Given the description of an element on the screen output the (x, y) to click on. 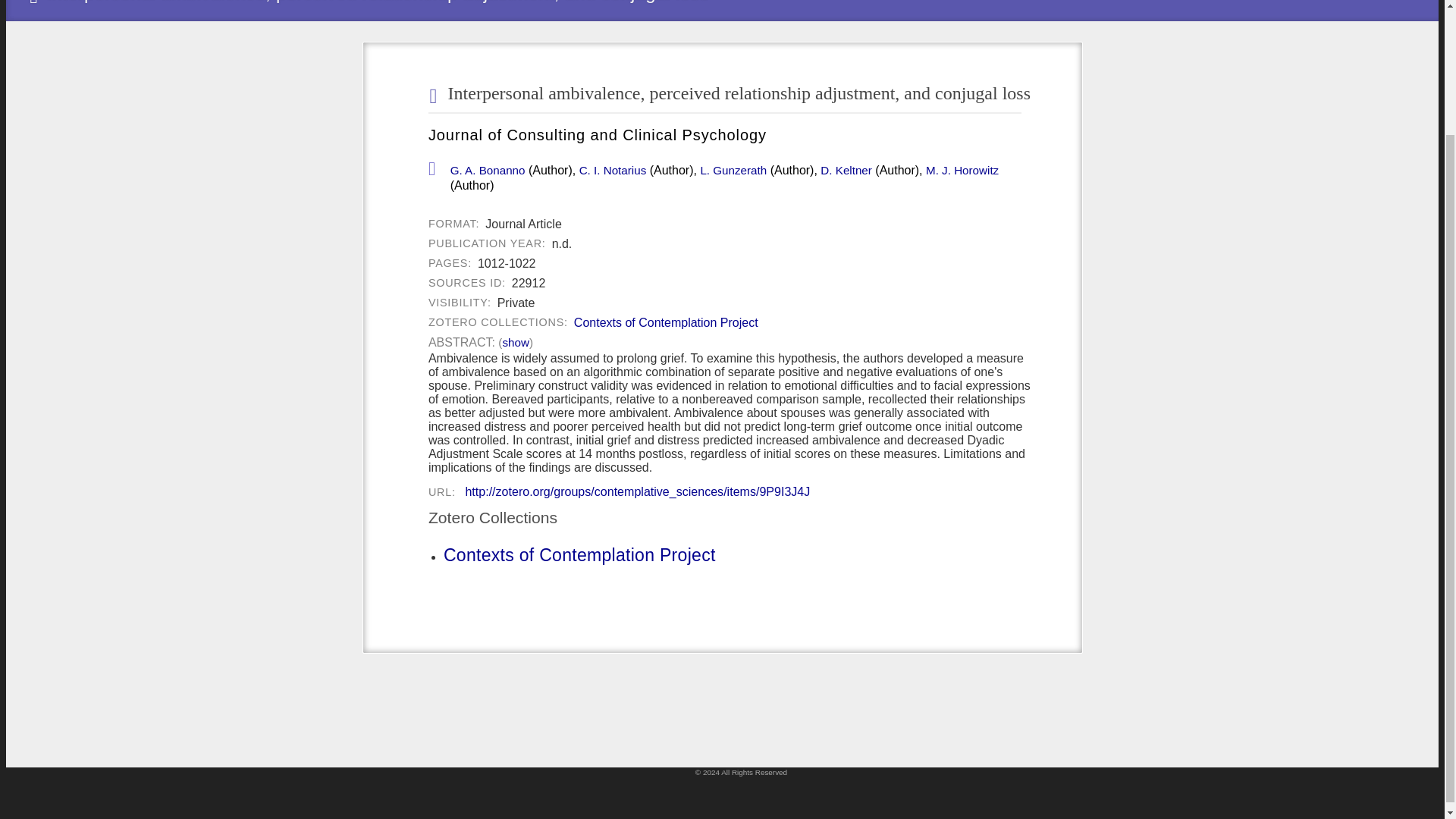
D. Keltner (846, 170)
M. J. Horowitz (962, 170)
Contexts of Contemplation Project (665, 323)
C. I. Notarius (612, 170)
Contexts of Contemplation Project (580, 554)
G. A. Bonanno (487, 170)
L. Gunzerath (733, 170)
show (515, 342)
